Given the description of an element on the screen output the (x, y) to click on. 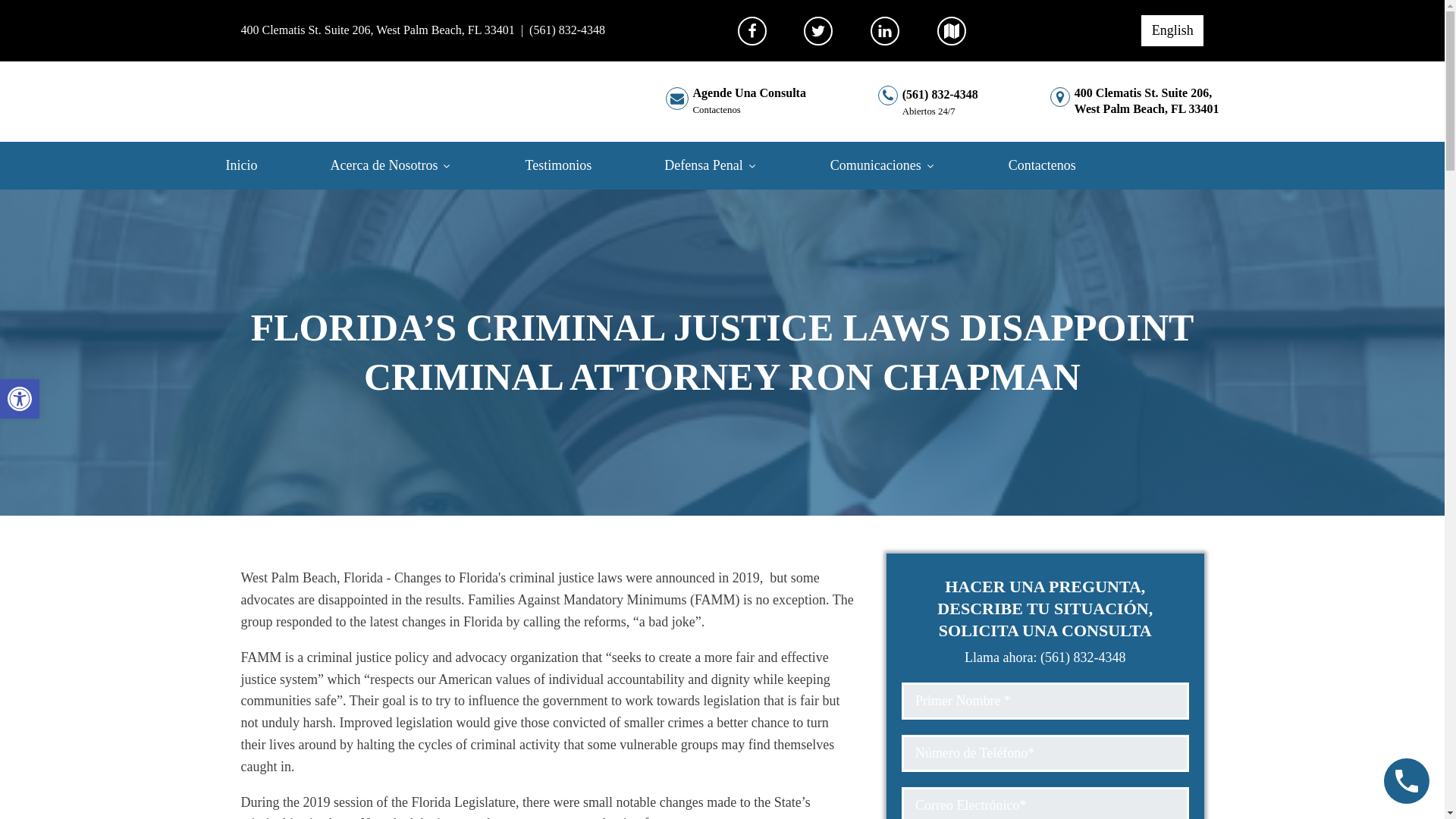
Accessibility Tools (19, 398)
Accessibility Tools (19, 398)
Inicio (19, 398)
Testimonios (1134, 101)
English (262, 165)
400 Clematis St. Suite 206, West Palm Beach, FL 33401 (578, 165)
Defensa Penal (1172, 30)
Acerca de Nosotros (378, 29)
